Given the description of an element on the screen output the (x, y) to click on. 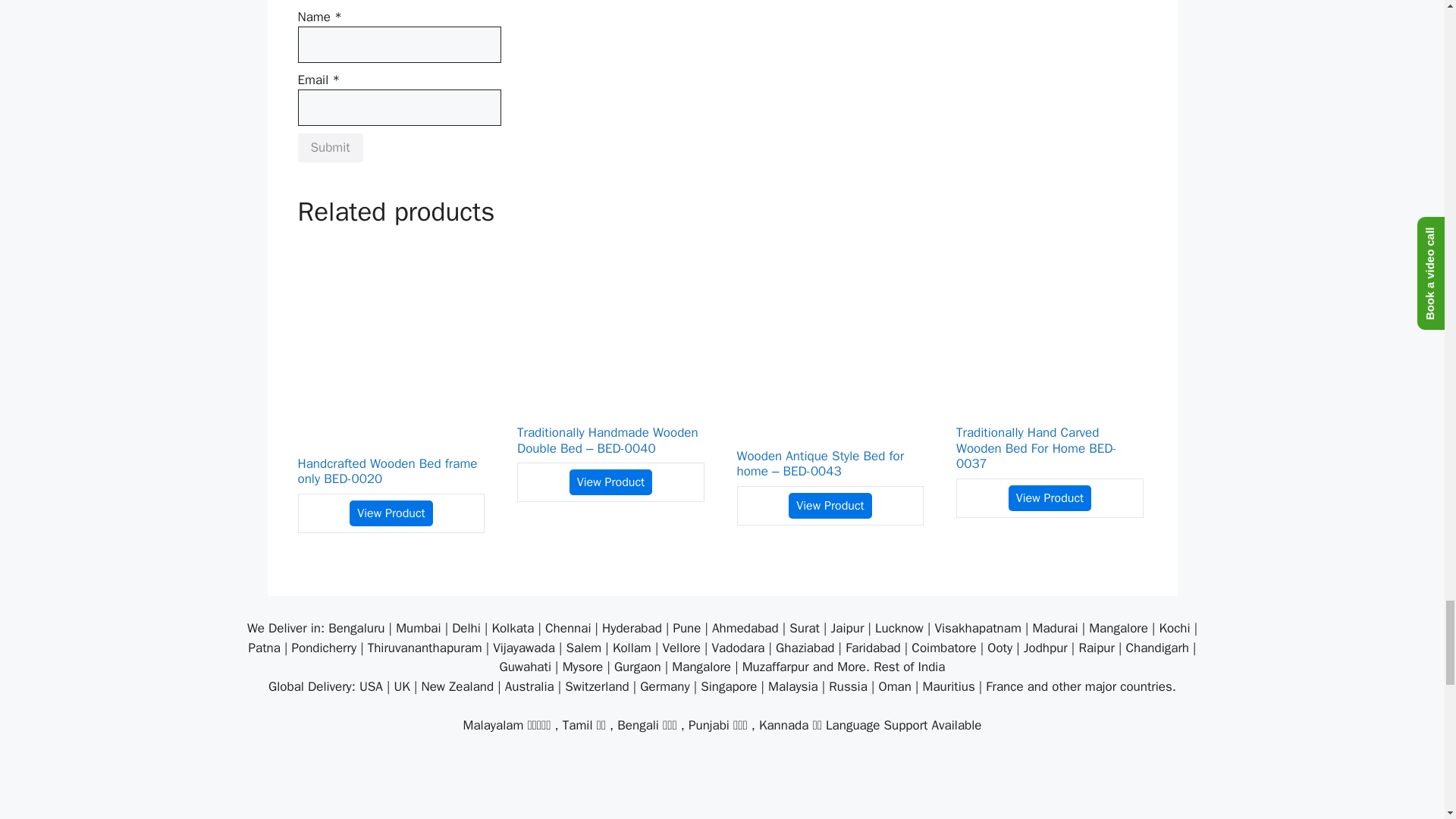
Submit (329, 147)
